Given the description of an element on the screen output the (x, y) to click on. 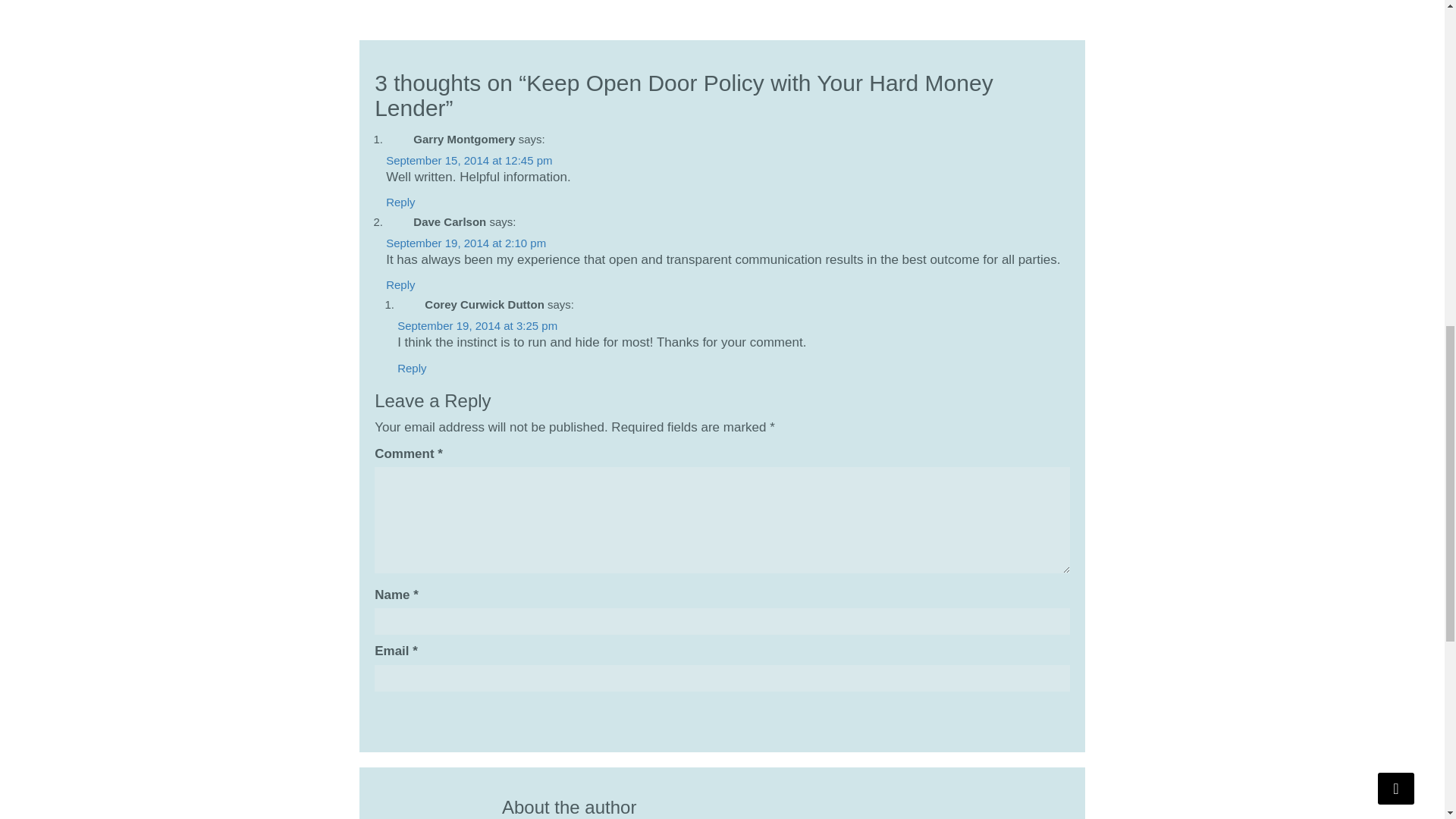
Reply (399, 201)
Post Comment (417, 714)
September 19, 2014 at 3:25 pm (477, 325)
Reply (399, 284)
September 15, 2014 at 12:45 pm (468, 160)
Reply (411, 367)
Post Comment (417, 714)
September 19, 2014 at 2:10 pm (465, 242)
